Given the description of an element on the screen output the (x, y) to click on. 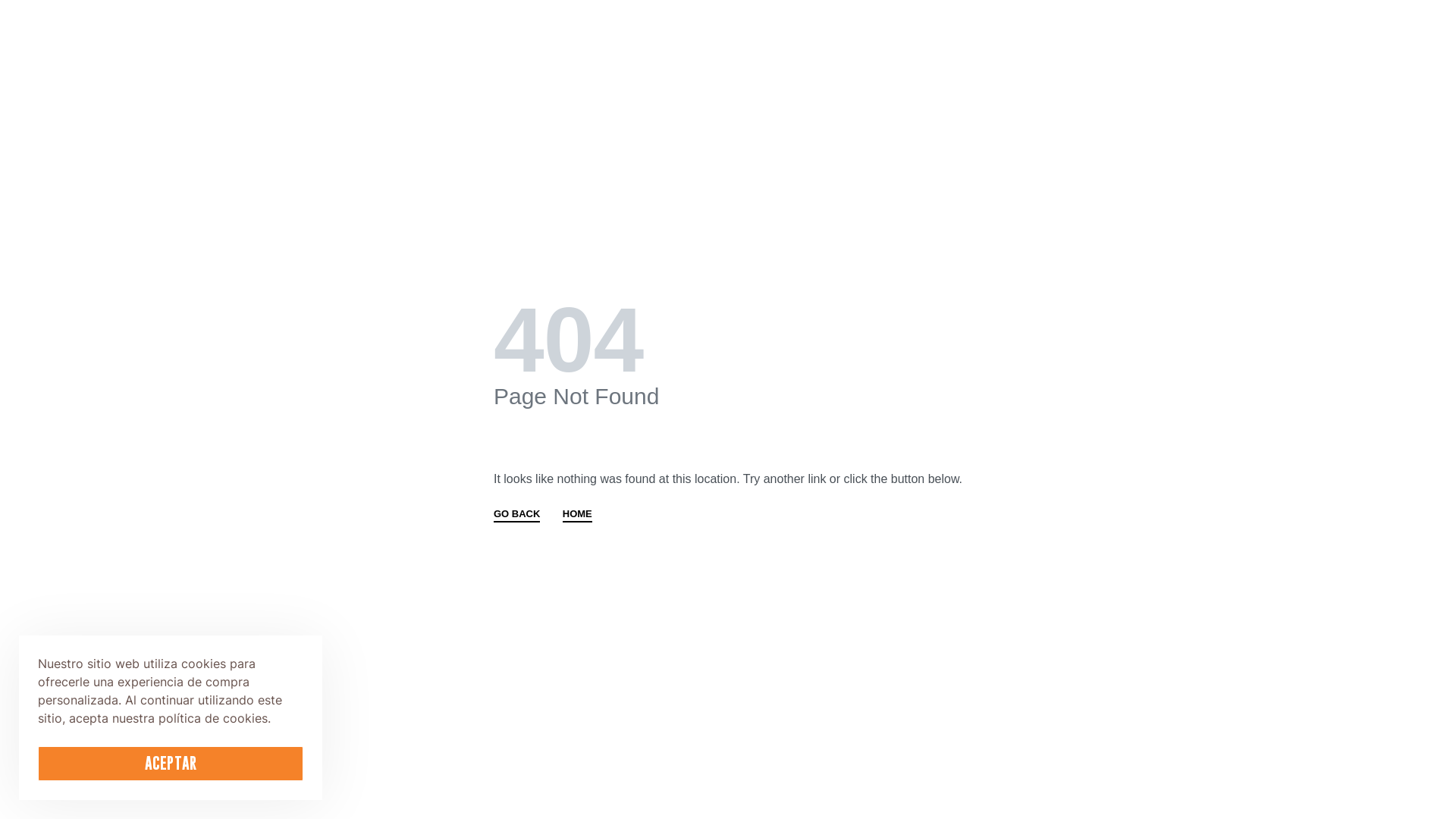
ACEPTAR Element type: text (170, 763)
HOME Element type: text (577, 515)
GO BACK Element type: text (516, 515)
